Given the description of an element on the screen output the (x, y) to click on. 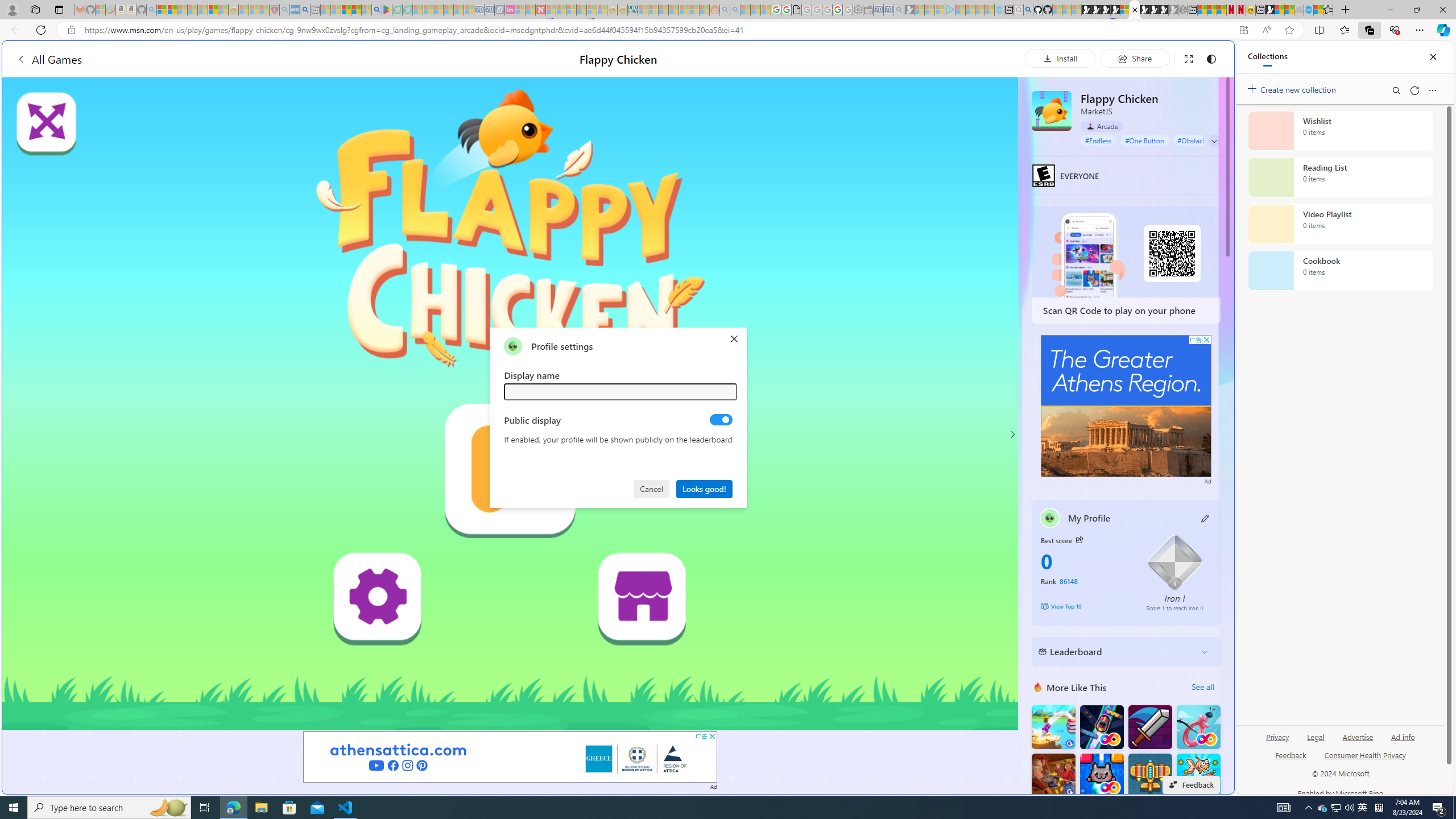
Cookbook collection, 0 items (1339, 270)
